Given the description of an element on the screen output the (x, y) to click on. 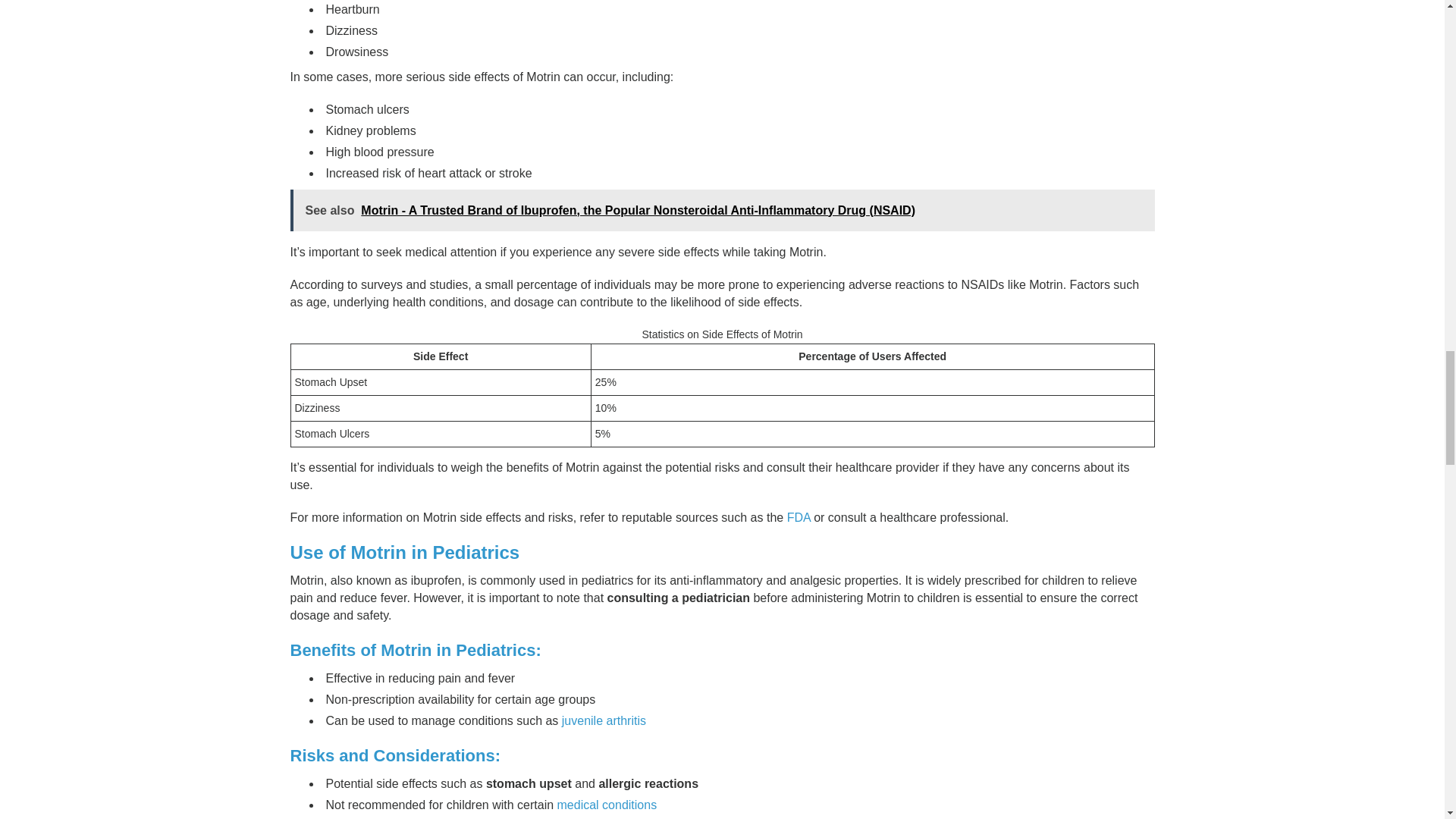
juvenile arthritis (604, 720)
medical conditions (607, 803)
FDA (798, 517)
